Given the description of an element on the screen output the (x, y) to click on. 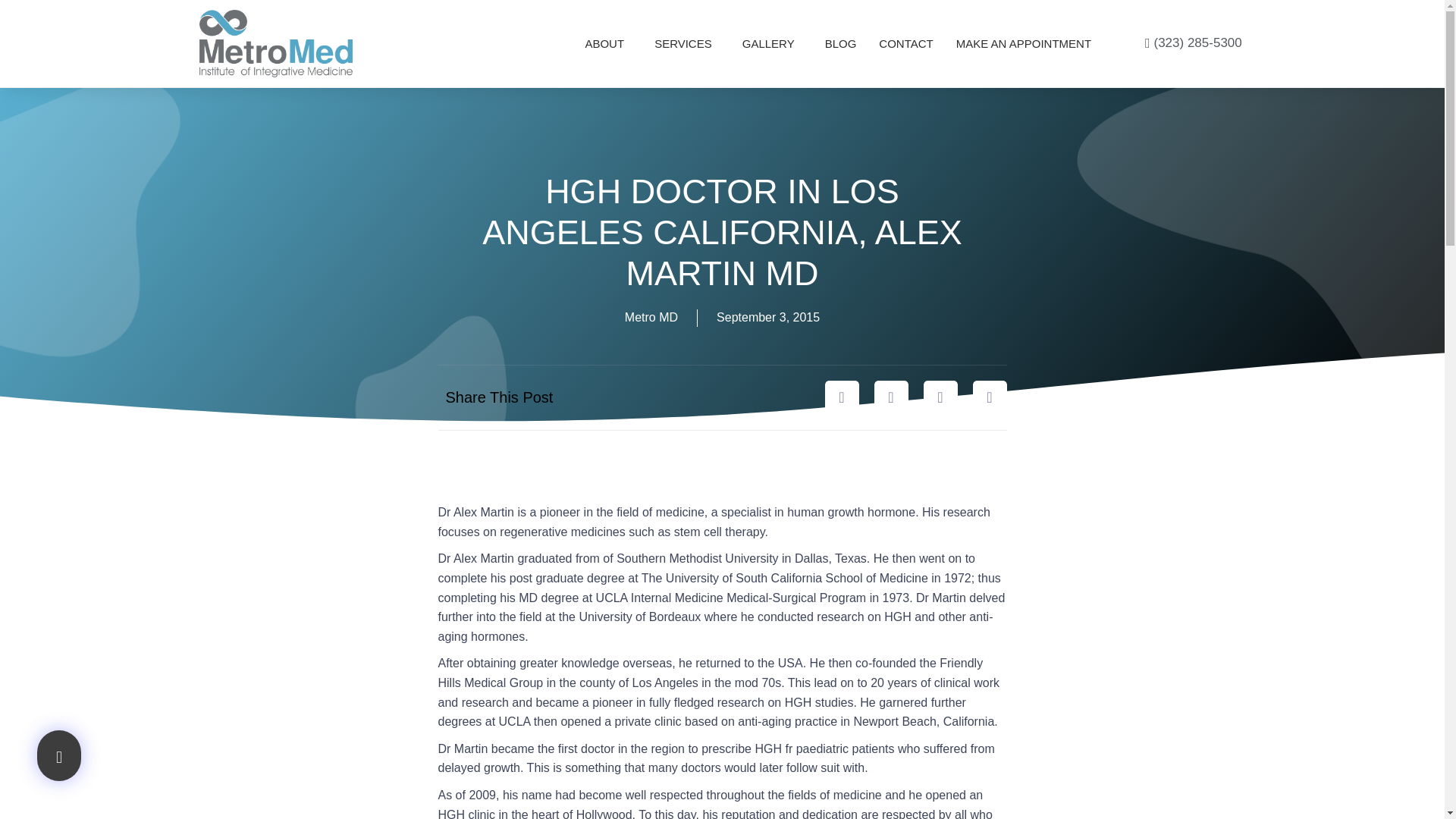
Our Blogs (840, 43)
GALLERY (771, 43)
CONTACT (905, 43)
Metro MD (651, 317)
Contact Us (905, 43)
MAKE AN APPOINTMENT (1023, 43)
ABOUT (608, 43)
SERVICES (686, 43)
September 3, 2015 (767, 317)
BLOG (840, 43)
